Given the description of an element on the screen output the (x, y) to click on. 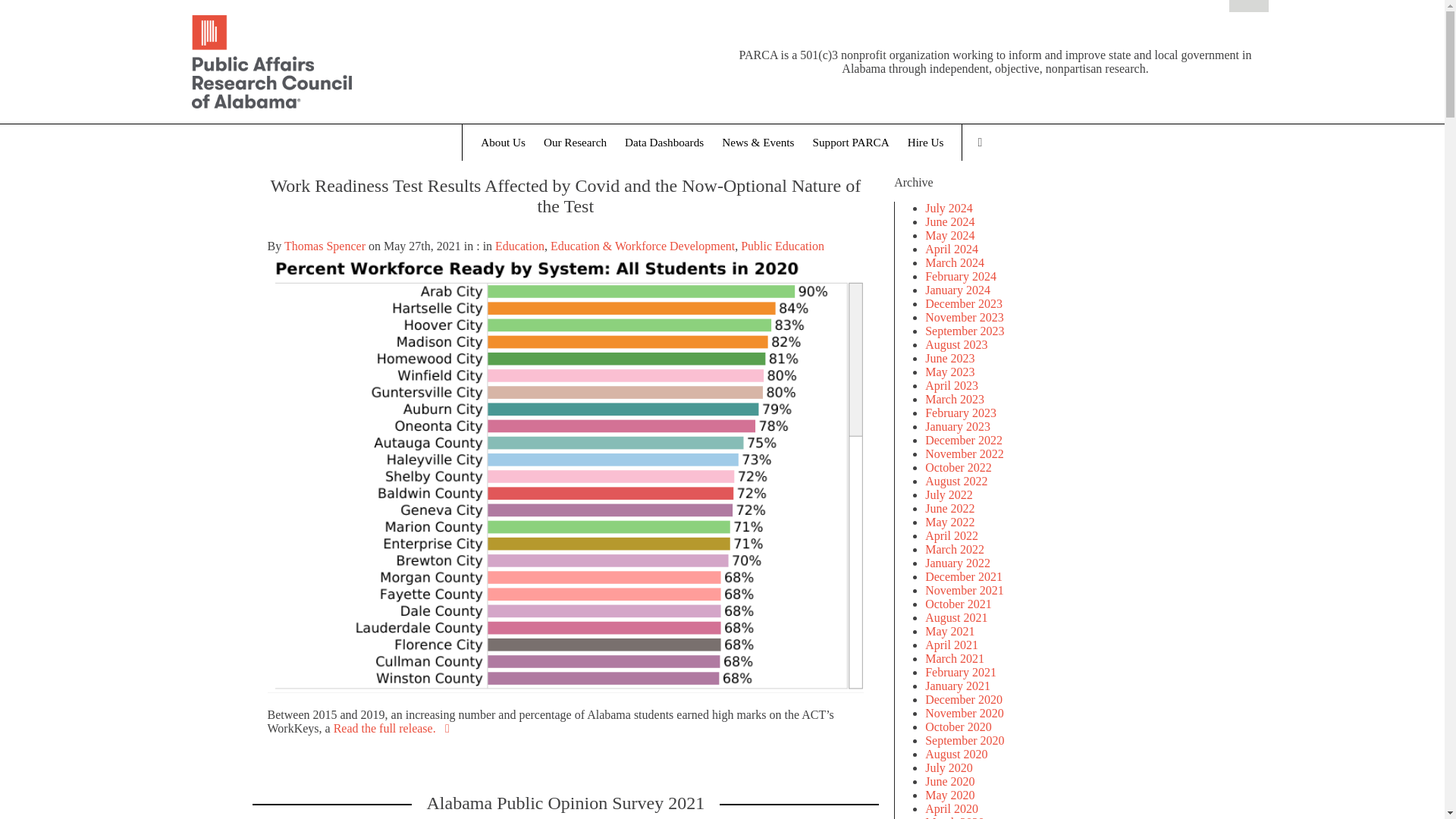
Posts by Thomas Spencer (324, 245)
Read the full release.   (394, 727)
Data Dashboards (663, 142)
Our Research (575, 142)
About Us (502, 142)
Hire Us (925, 142)
Education (519, 245)
Public Education (782, 245)
Thomas Spencer (324, 245)
Public Affairs Research Council of Alabama (449, 63)
Support PARCA (850, 142)
